Given the description of an element on the screen output the (x, y) to click on. 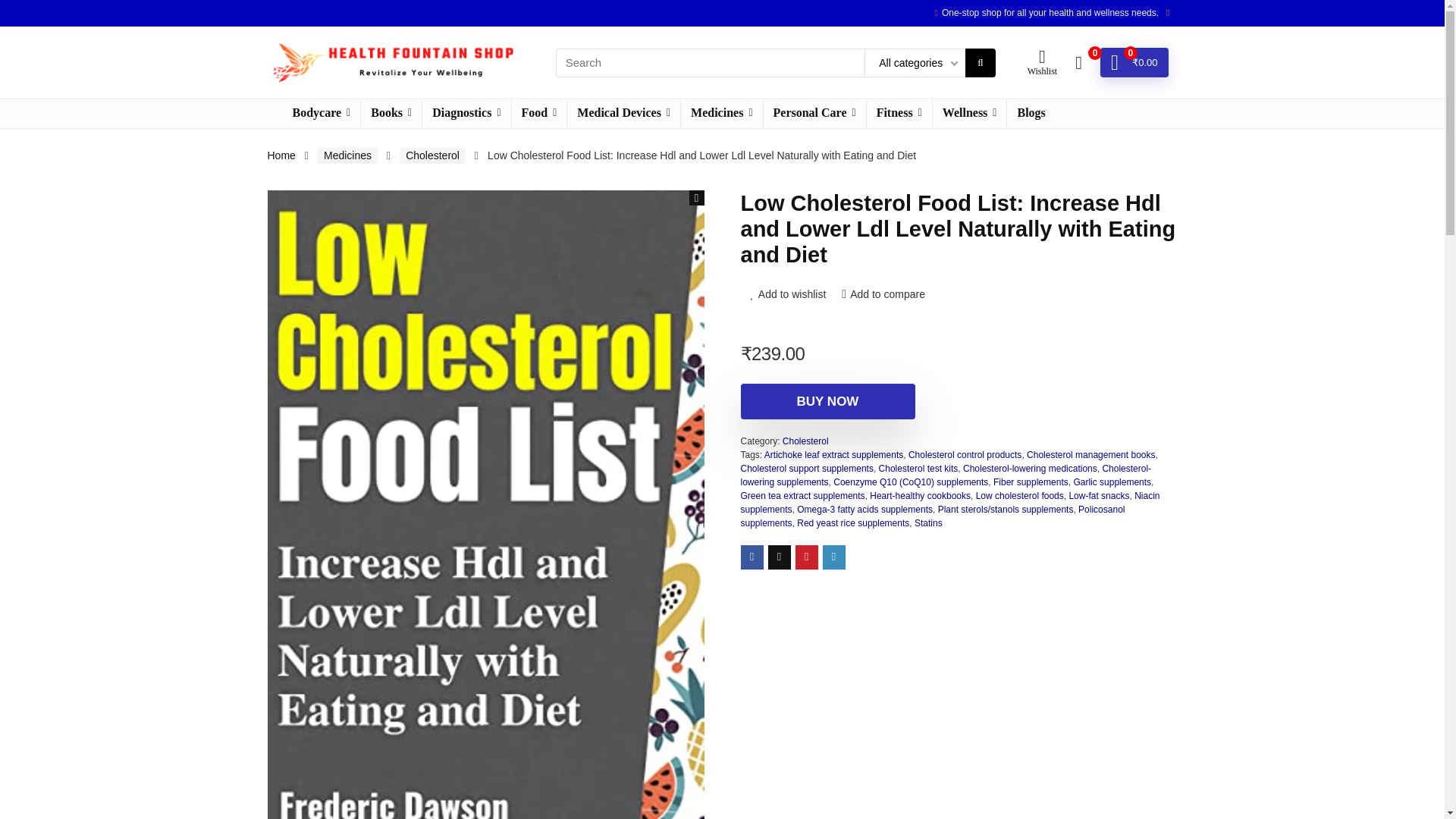
Medicines (721, 113)
Medical Devices (623, 113)
Bodycare (320, 113)
Diagnostics (466, 113)
Food (538, 113)
Books (391, 113)
